Given the description of an element on the screen output the (x, y) to click on. 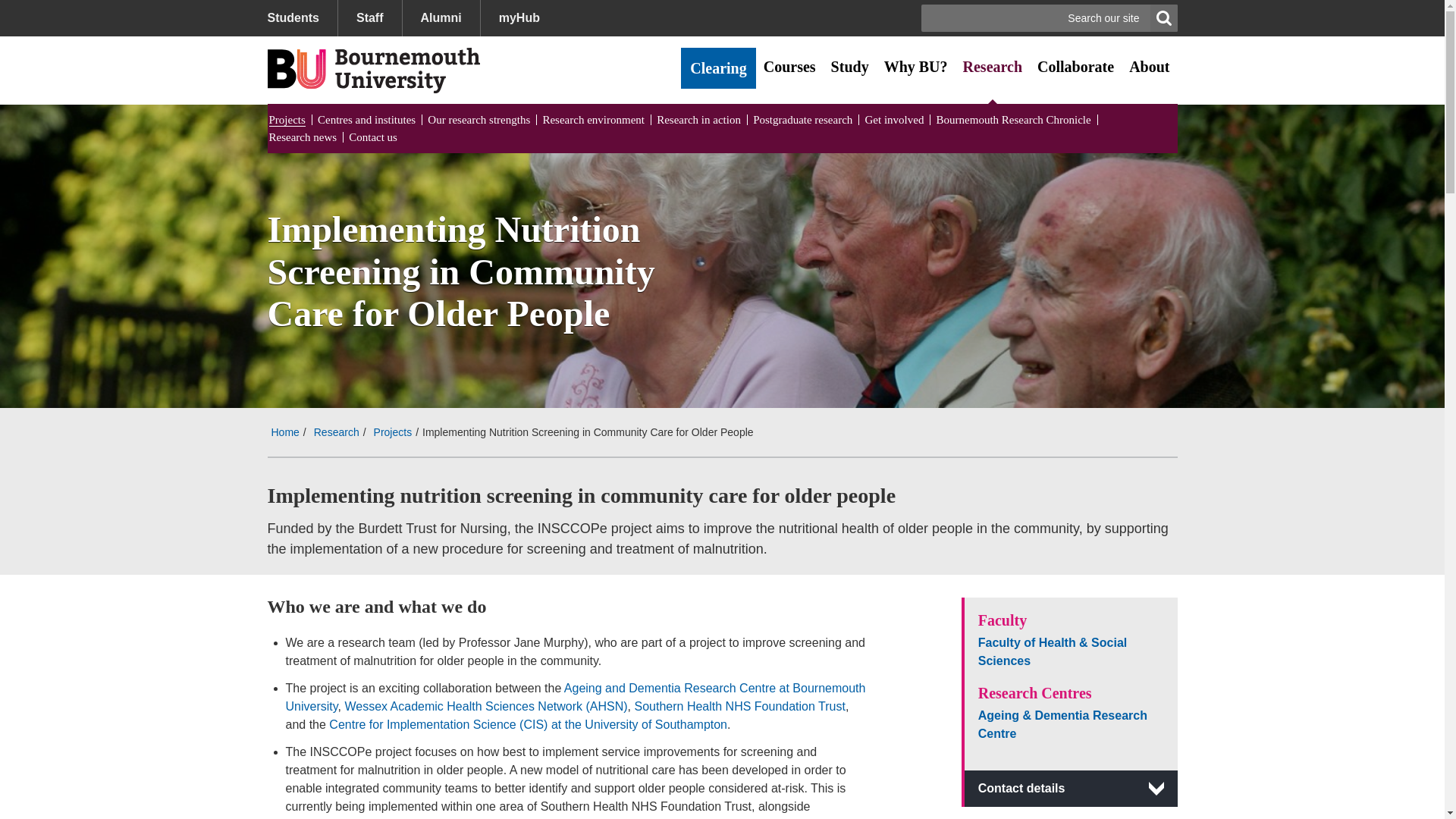
Search (1163, 17)
Bournemouth University (372, 70)
Study (850, 66)
Staff (369, 18)
Search (1163, 17)
myHub (518, 18)
Students (301, 18)
Enter the terms you wish to search for. (1049, 17)
Why BU? (915, 66)
Centres and institutes (365, 120)
